Given the description of an element on the screen output the (x, y) to click on. 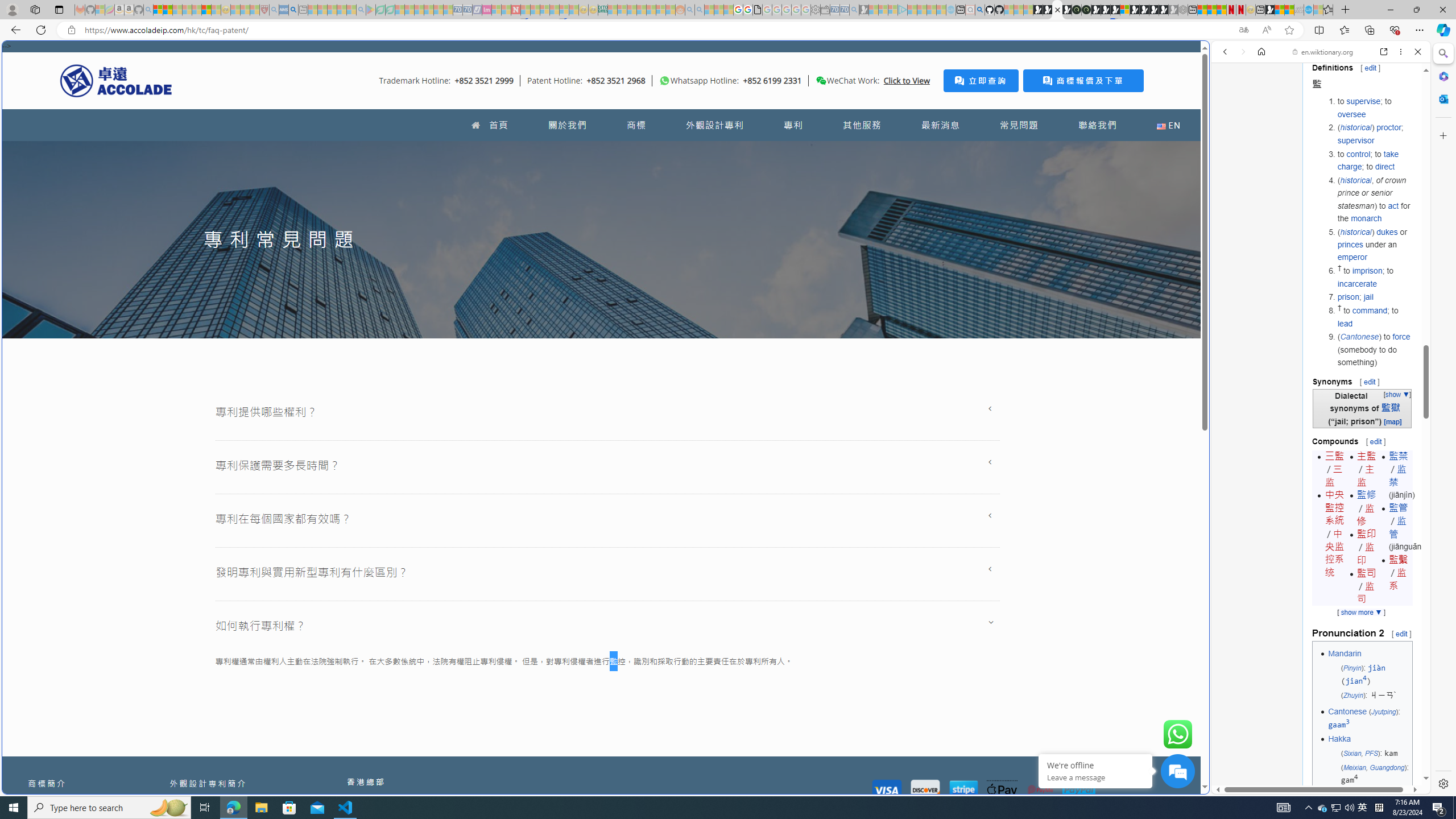
princes (1349, 244)
supervise (1363, 101)
Services - Maintenance | Sky Blue Bikes - Sky Blue Bikes (1307, 9)
